Given the description of an element on the screen output the (x, y) to click on. 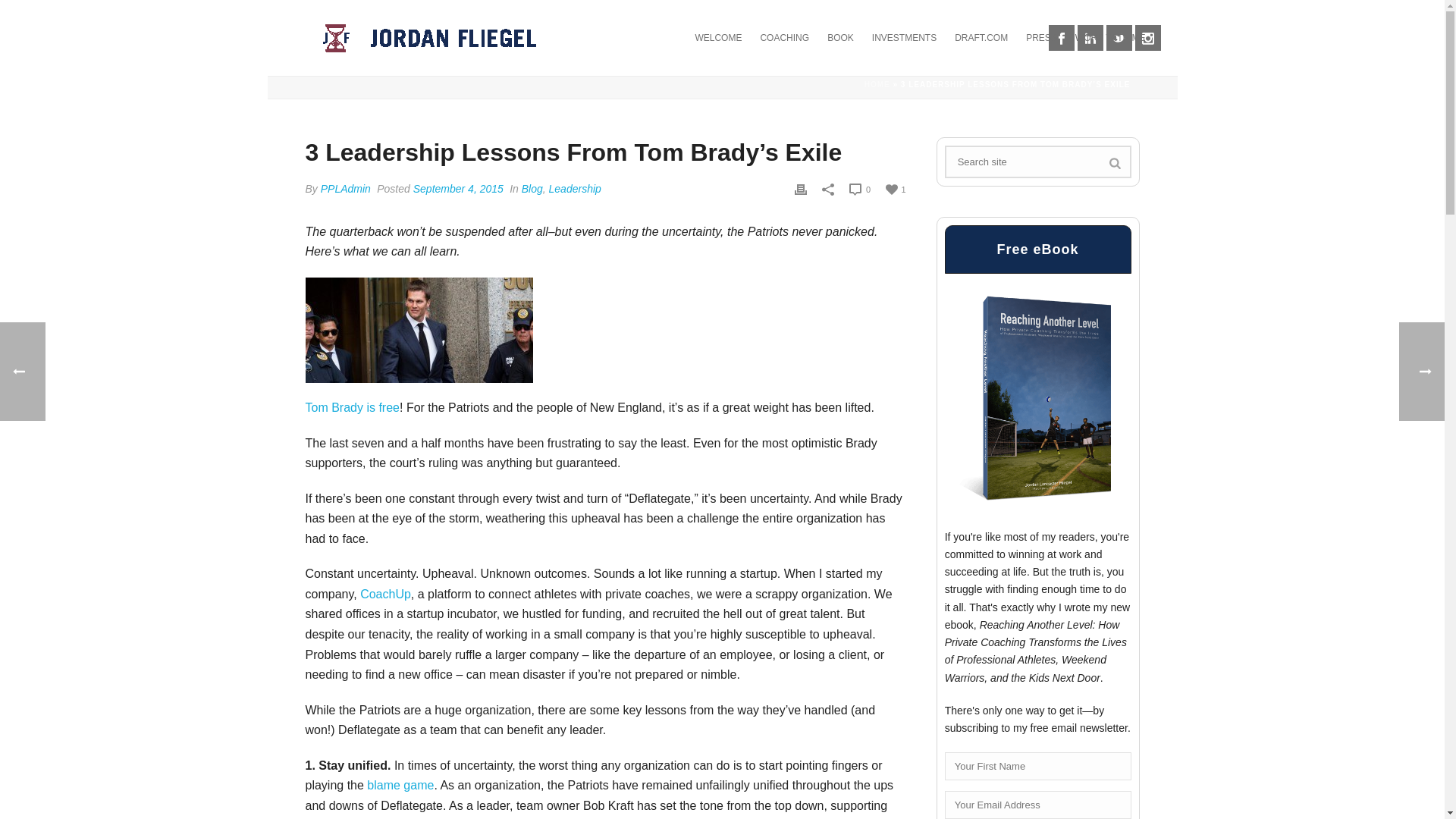
INVESTMENTS (903, 38)
COACHING (784, 38)
DRAFT.COM (980, 38)
DRAFT.COM (980, 38)
COACHING (784, 38)
September 4, 2015 (458, 188)
Blog (532, 188)
WORK WITH ME (1109, 38)
Posts by PPLAdmin (345, 188)
HOME (876, 84)
